Given the description of an element on the screen output the (x, y) to click on. 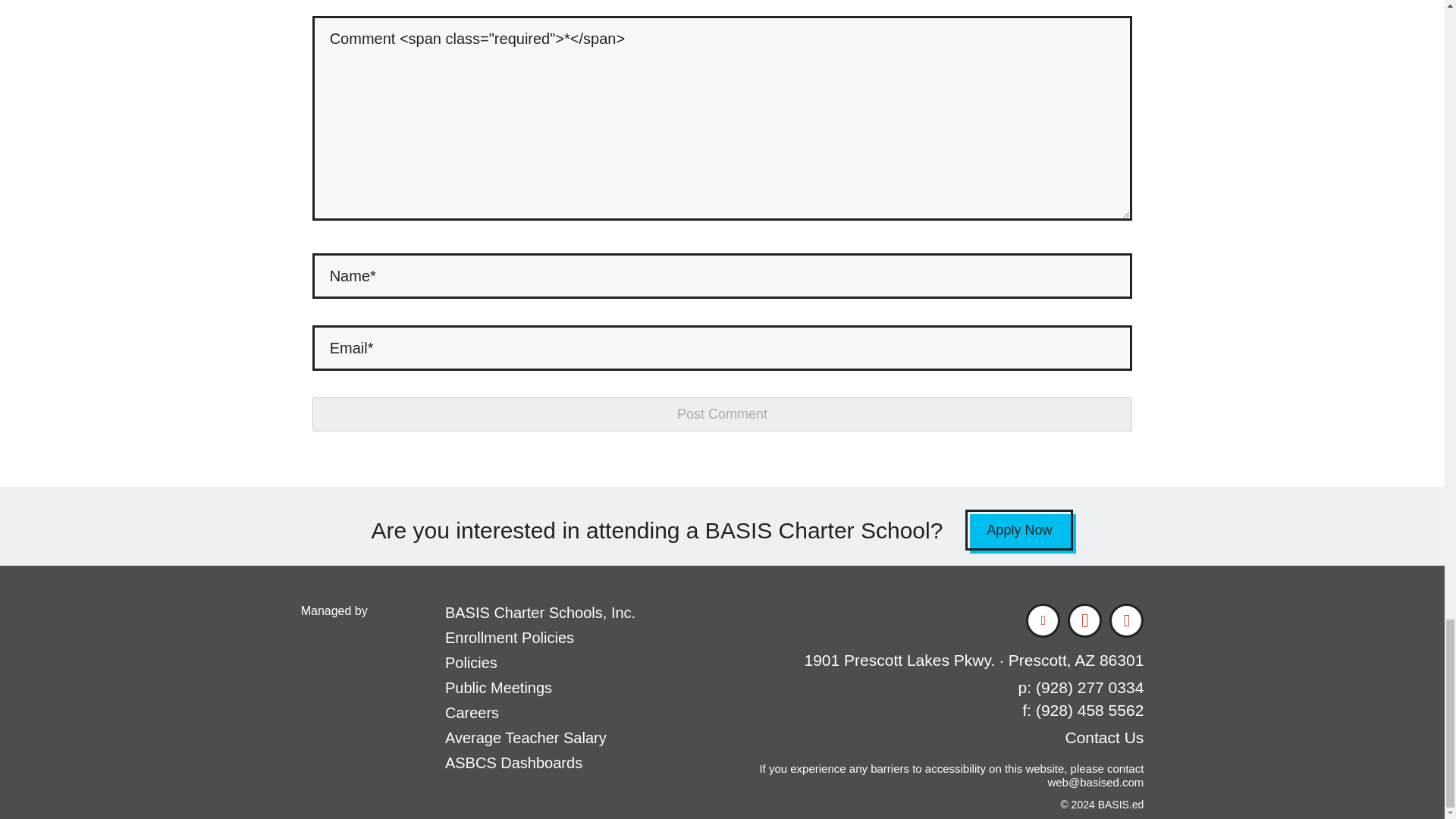
Arizona (1084, 660)
Instagram (1126, 620)
Post Comment (722, 414)
Policies (471, 662)
Parkway (973, 660)
Twitter (1042, 620)
Careers (472, 712)
Apply Now (1019, 529)
Post Comment (722, 414)
Contact Us (1103, 737)
